Given the description of an element on the screen output the (x, y) to click on. 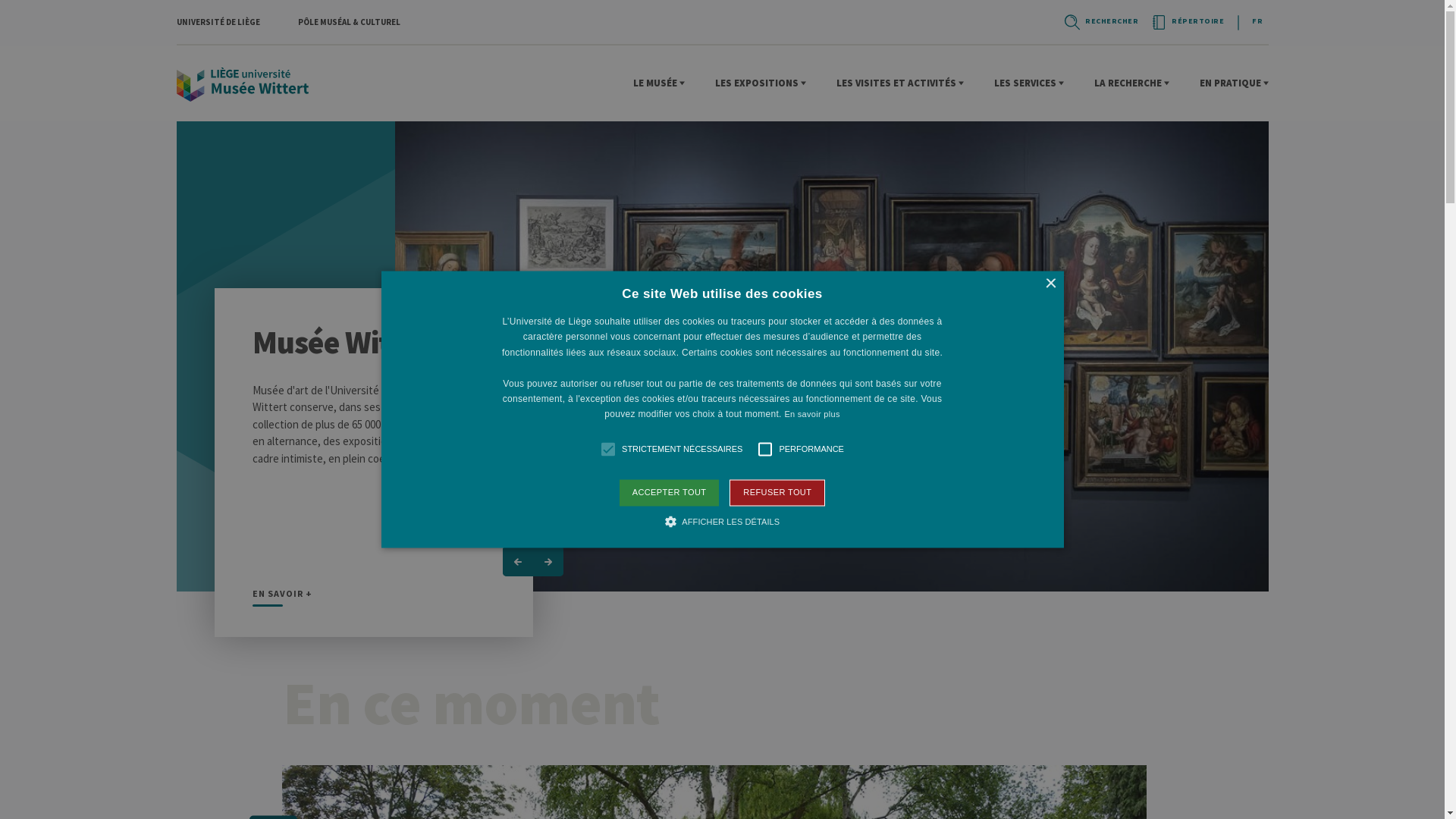
EN SAVOIR + Element type: text (281, 596)
En savoir plus Element type: text (811, 414)
RECHERCHER Element type: text (1100, 21)
LES EXPOSITIONS Element type: text (759, 83)
LES SERVICES Element type: text (1028, 83)
LA RECHERCHE Element type: text (1130, 83)
EN PRATIQUE Element type: text (1233, 83)
FR Element type: text (1257, 20)
